Given the description of an element on the screen output the (x, y) to click on. 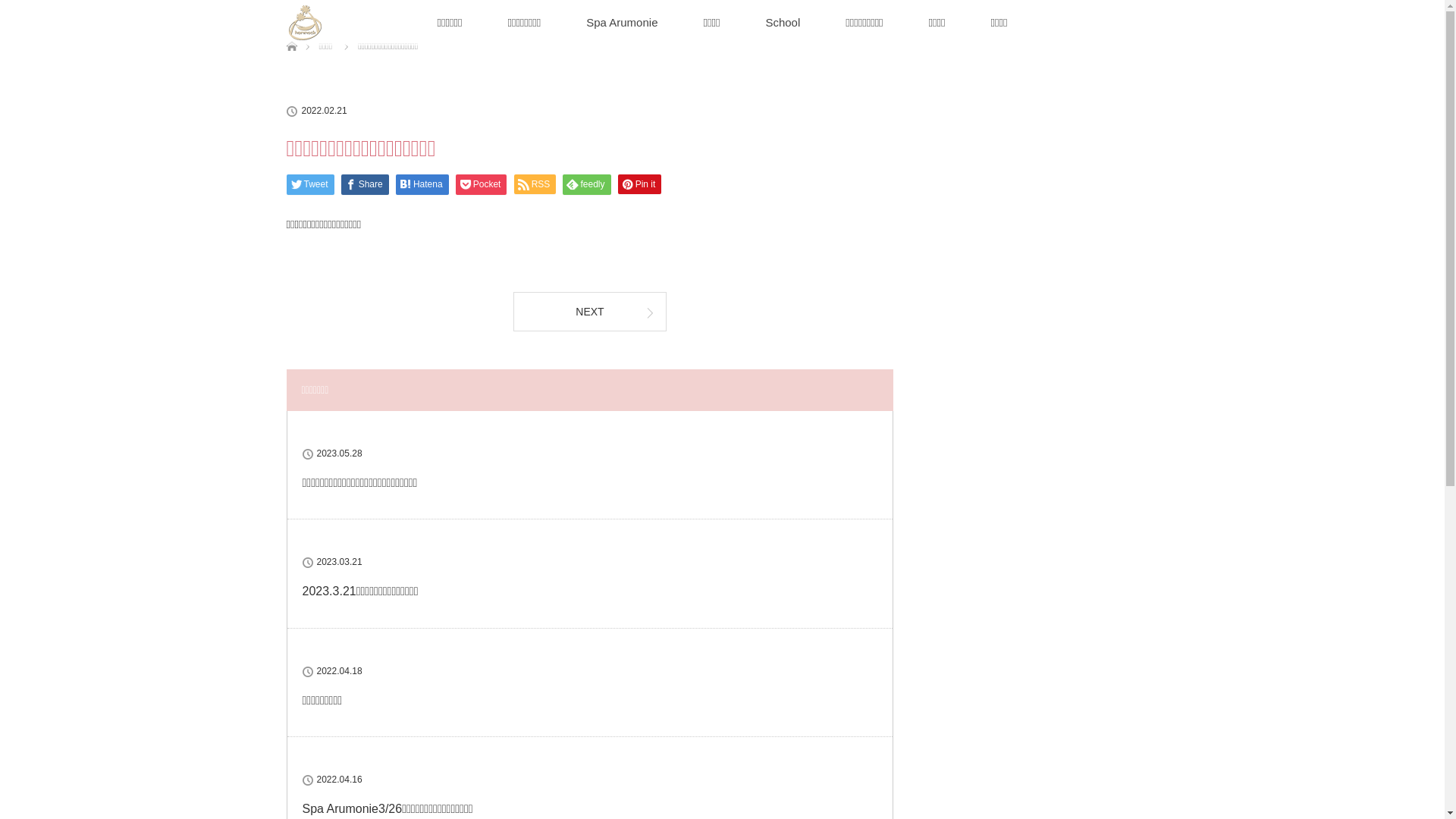
feedly Element type: text (586, 184)
Tweet Element type: text (310, 184)
Pin it Element type: text (640, 184)
NEXT Element type: text (589, 310)
School Element type: text (782, 22)
Share Element type: text (365, 184)
Pocket Element type: text (481, 184)
Hatena Element type: text (421, 184)
Spa Arumonie Element type: text (621, 22)
RSS Element type: text (535, 184)
